Given the description of an element on the screen output the (x, y) to click on. 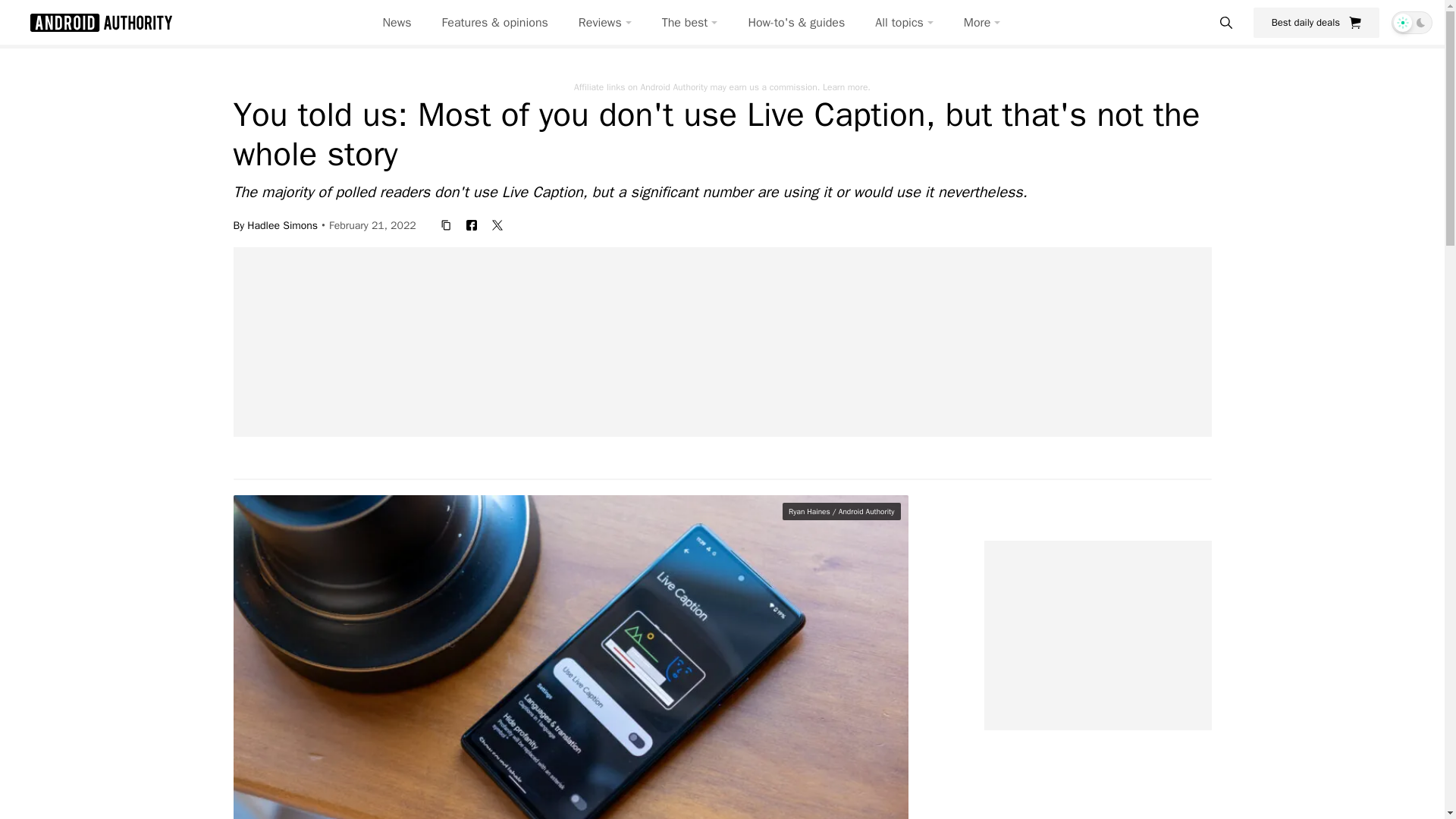
Learn more. (846, 86)
The best (689, 22)
Best daily deals (1315, 22)
twitter (497, 225)
Hadlee Simons (282, 224)
Reviews (604, 22)
facebook (471, 225)
All topics (904, 22)
